Given the description of an element on the screen output the (x, y) to click on. 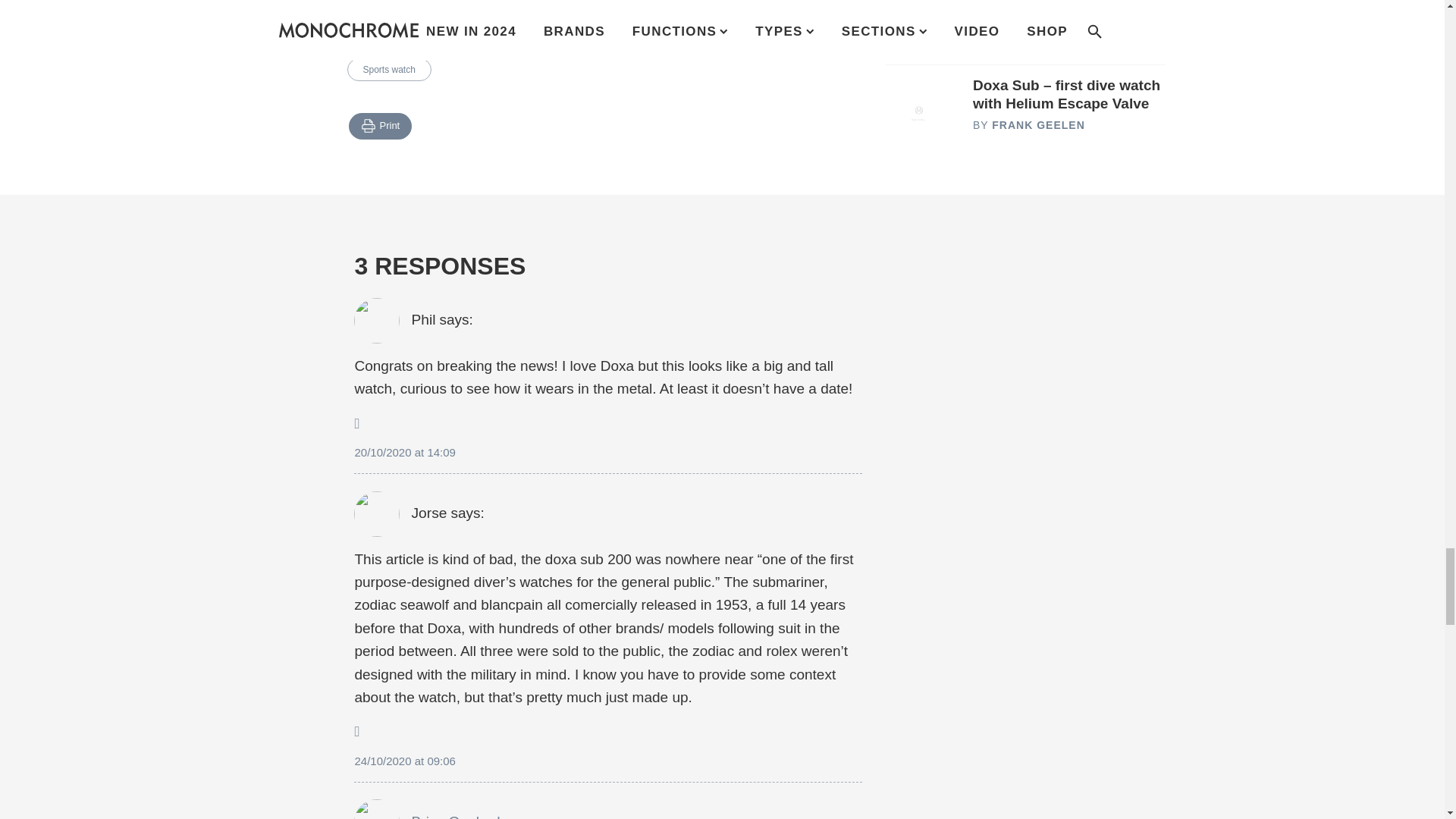
Chronographs (515, 38)
Doxa (373, 38)
2020 (435, 38)
